Given the description of an element on the screen output the (x, y) to click on. 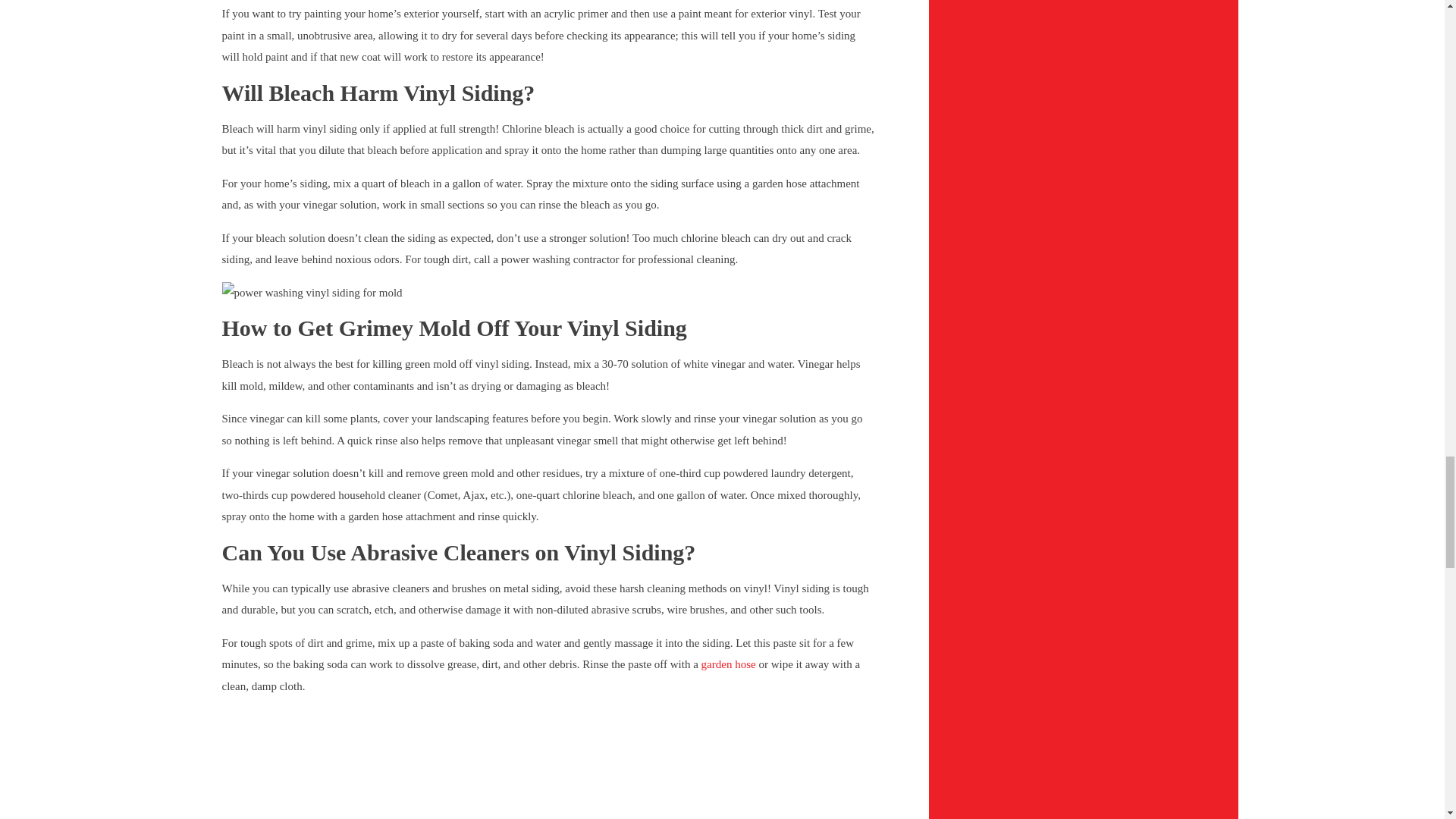
garden hose (728, 664)
